Given the description of an element on the screen output the (x, y) to click on. 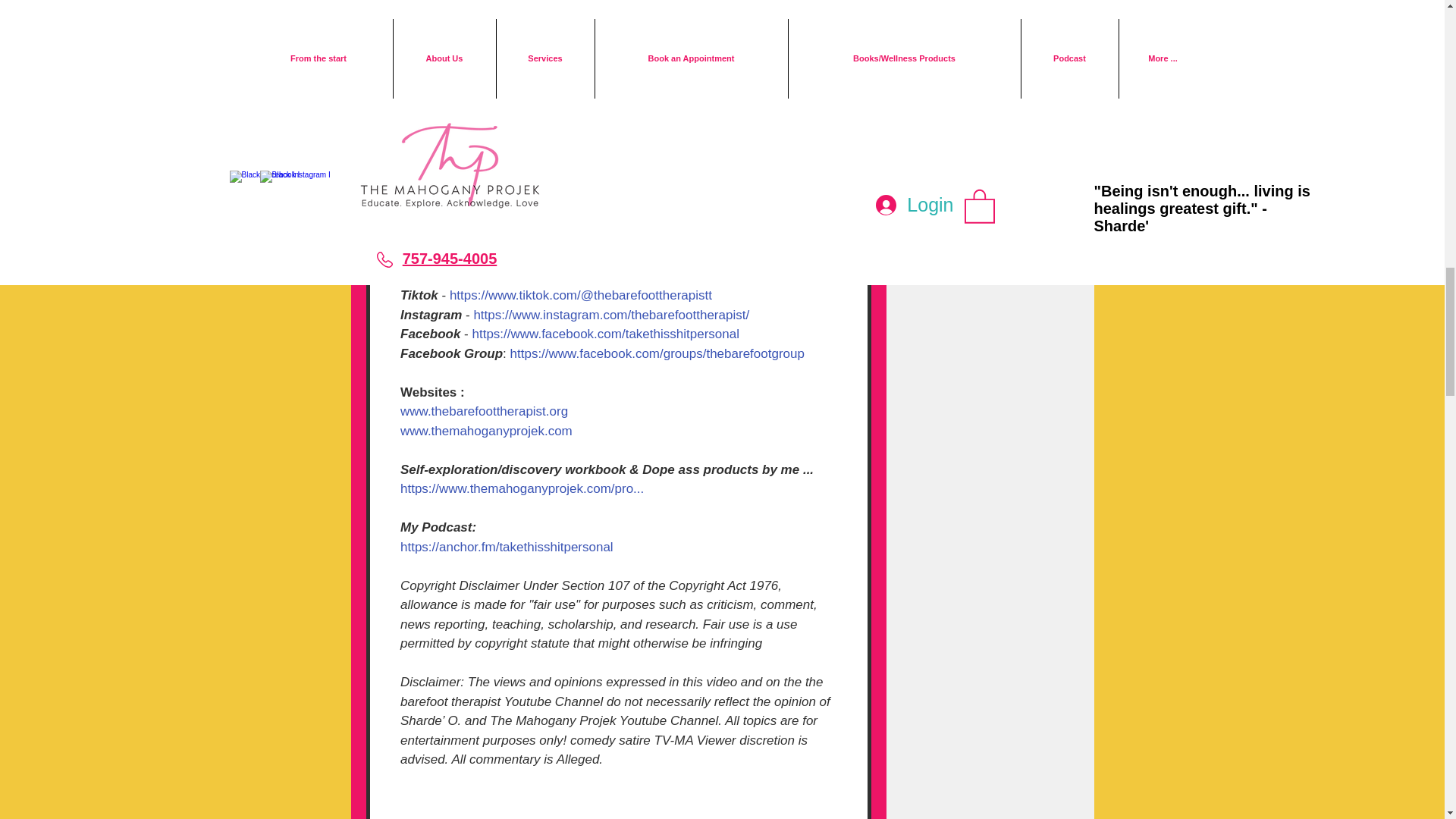
www.thebarefoottherapist.org (483, 411)
www.themahoganyprojek.com (486, 430)
